Given the description of an element on the screen output the (x, y) to click on. 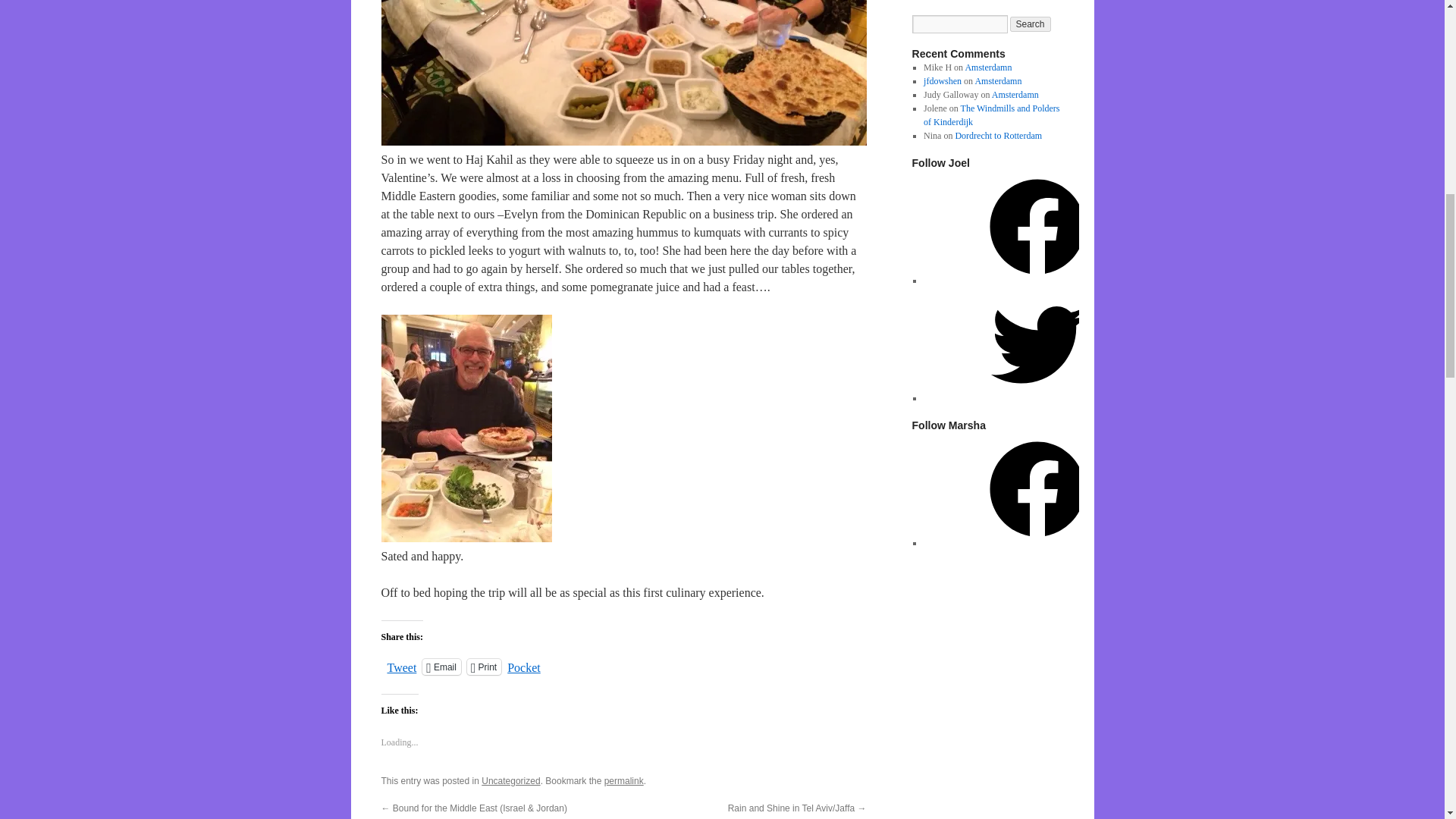
permalink (623, 780)
Pocket (523, 667)
Print (483, 666)
Email (441, 666)
Tweet (401, 665)
Search (1030, 23)
Click to print (483, 666)
Click to email a link to a friend (441, 666)
Uncategorized (510, 780)
